Given the description of an element on the screen output the (x, y) to click on. 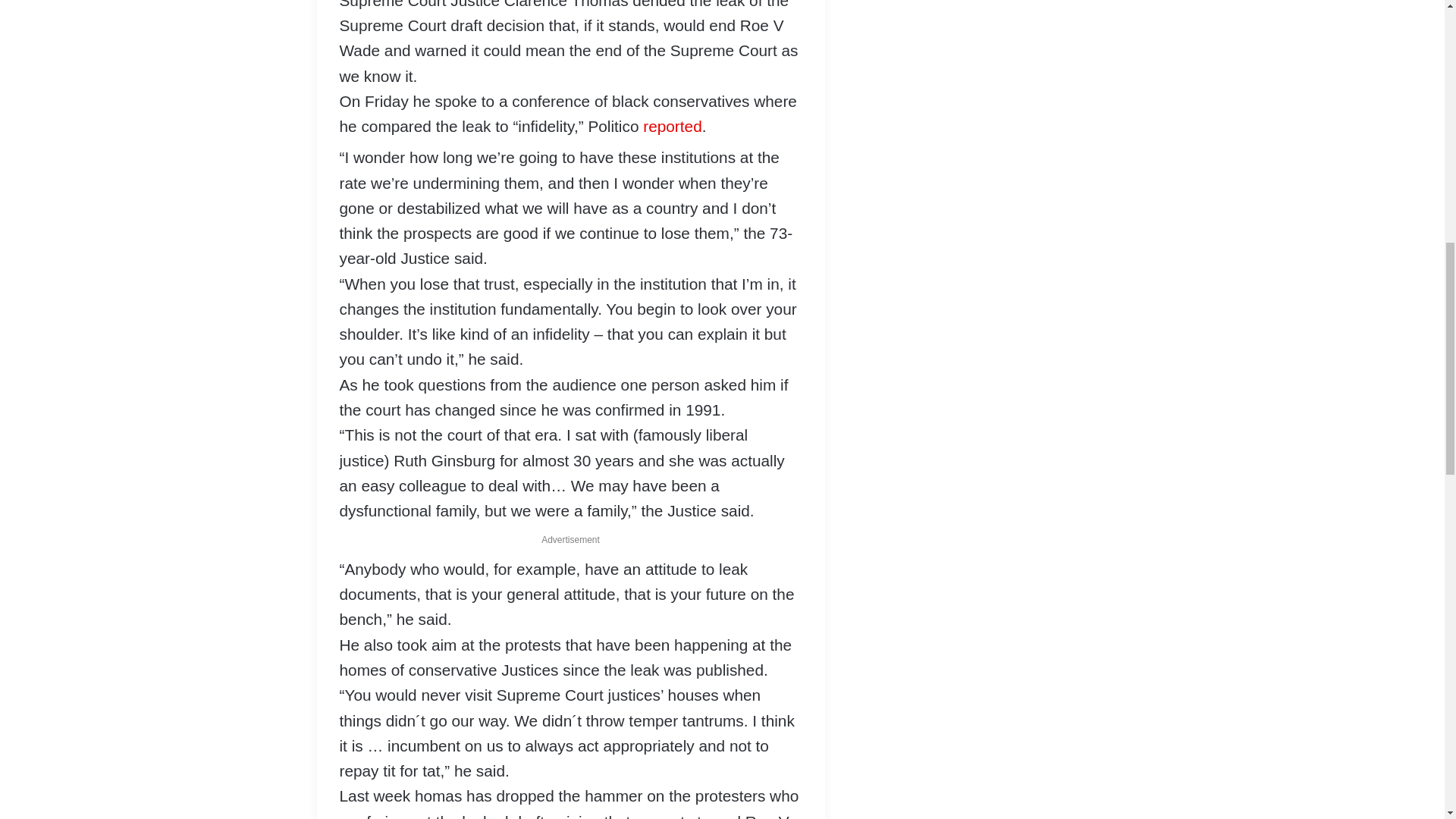
reported (672, 126)
